Given the description of an element on the screen output the (x, y) to click on. 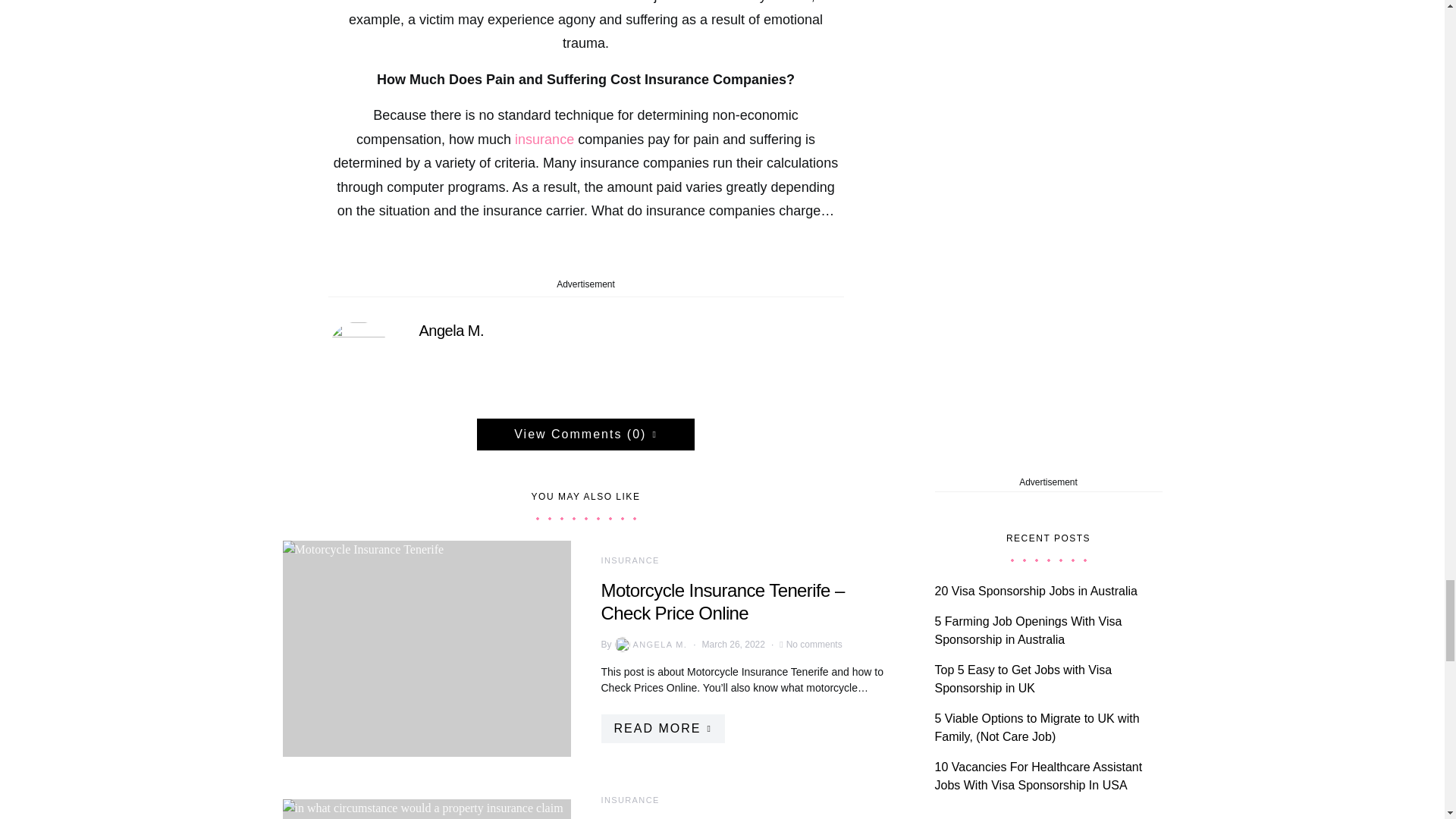
ANGELA M. (649, 644)
INSURANCE (629, 560)
View all posts by Angela M. (649, 644)
insurance (542, 139)
Angela M. (451, 330)
No comments (814, 644)
